Given the description of an element on the screen output the (x, y) to click on. 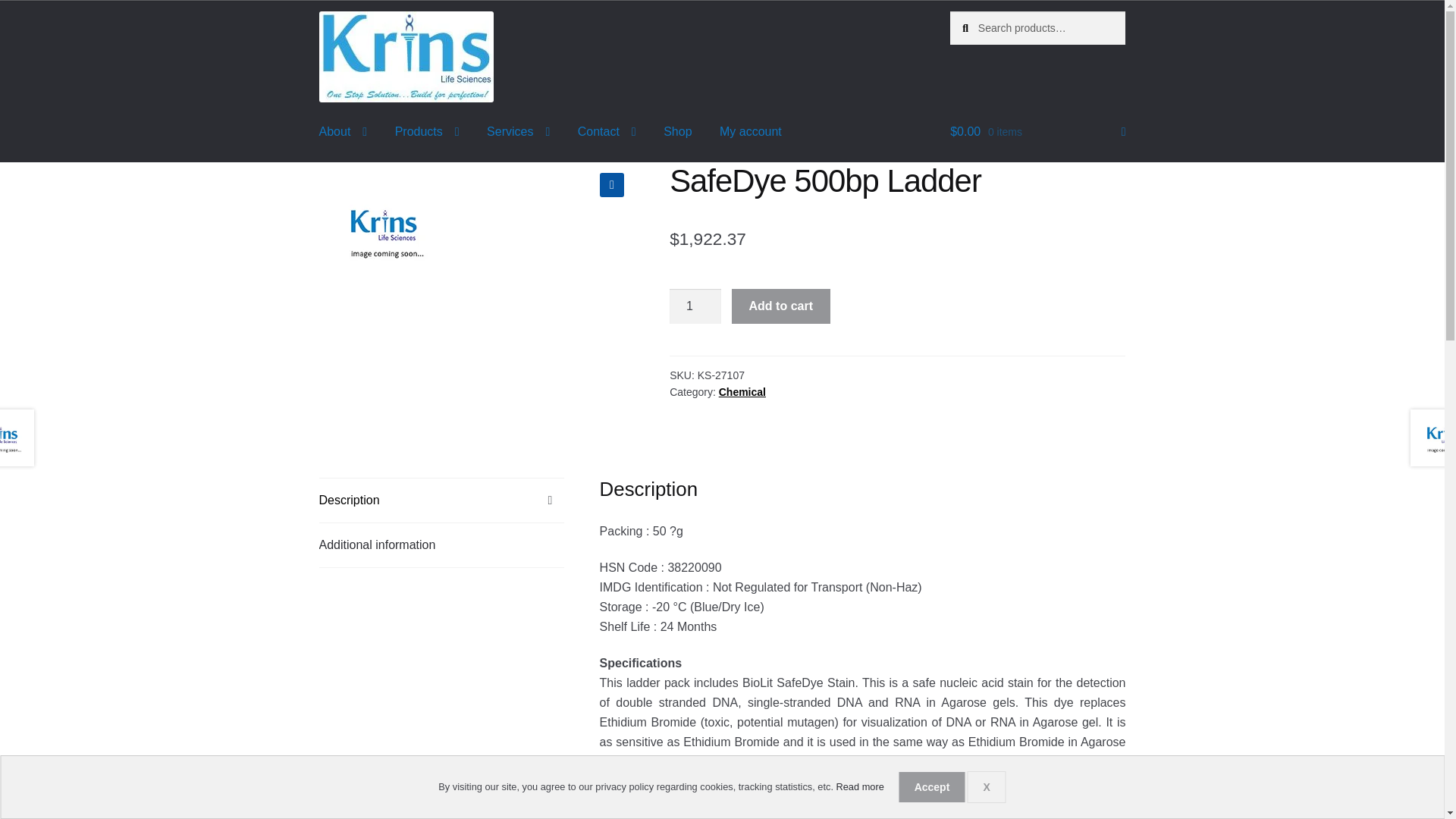
Accept (931, 787)
Contact (606, 131)
Read more (859, 786)
View your shopping cart (1037, 131)
X (987, 787)
1 (694, 306)
Services (518, 131)
SafeDye 500bp Ladder (383, 230)
About (343, 131)
My account (750, 131)
SafeDye 500bp Ladder (405, 56)
Products (426, 131)
